Given the description of an element on the screen output the (x, y) to click on. 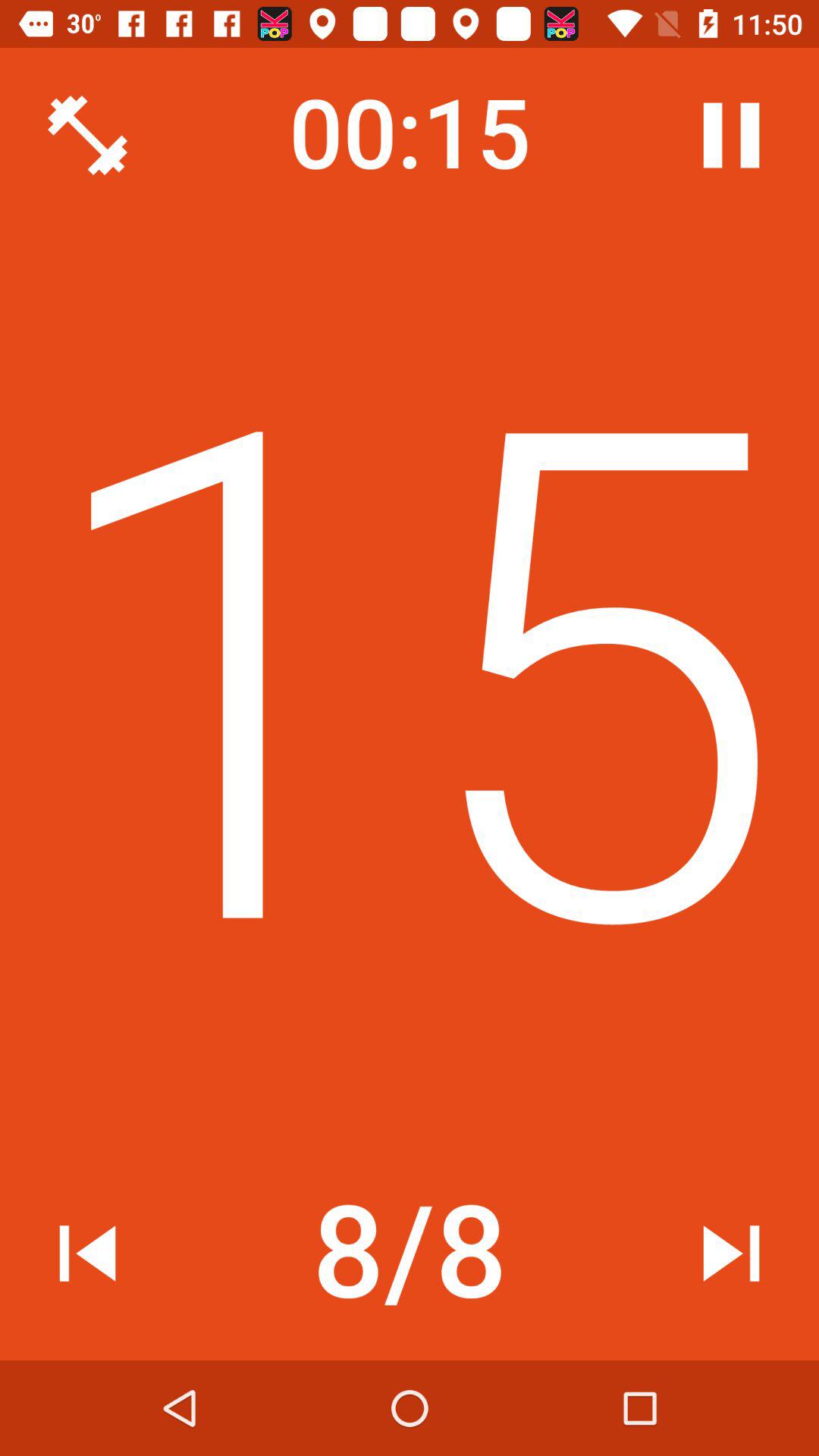
launch item below 14 item (87, 1253)
